Given the description of an element on the screen output the (x, y) to click on. 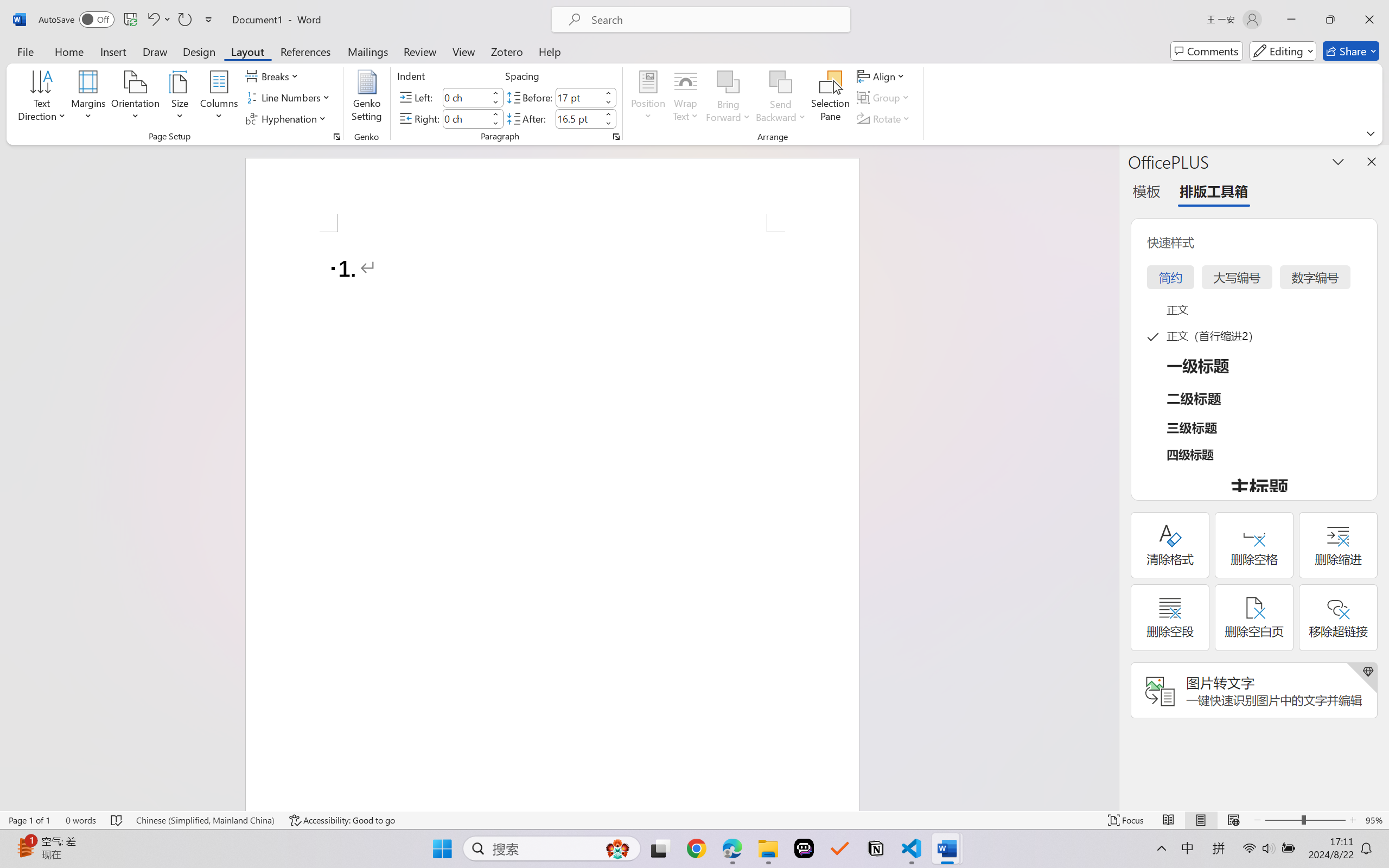
Less (608, 123)
Text Direction (42, 97)
Page 1 content (552, 521)
Undo Number Default (152, 19)
Group (884, 97)
Bring Forward (728, 81)
Indent Left (465, 96)
